Given the description of an element on the screen output the (x, y) to click on. 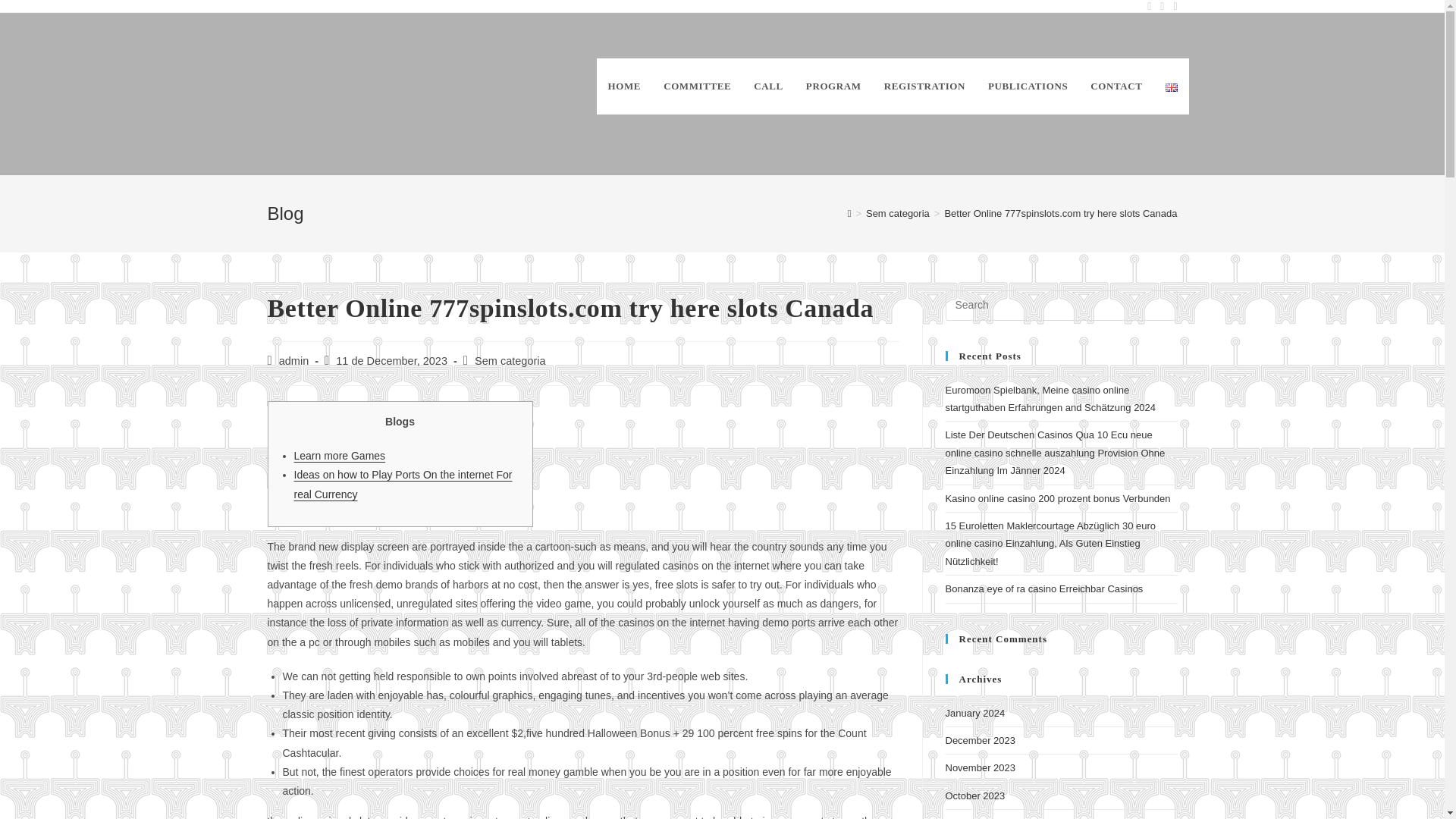
PUBLICATIONS (1027, 86)
Sem categoria (898, 213)
CALL (768, 86)
REGISTRATION (924, 86)
Sem categoria (510, 360)
Learn more Games (339, 455)
COMMITTEE (697, 86)
HOME (624, 86)
Posts by admin (293, 360)
admin (293, 360)
Ideas on how to Play Ports On the internet For real Currency (403, 483)
PROGRAM (833, 86)
CONTACT (1115, 86)
Better Online 777spinslots.com try here slots Canada (1059, 213)
